Given the description of an element on the screen output the (x, y) to click on. 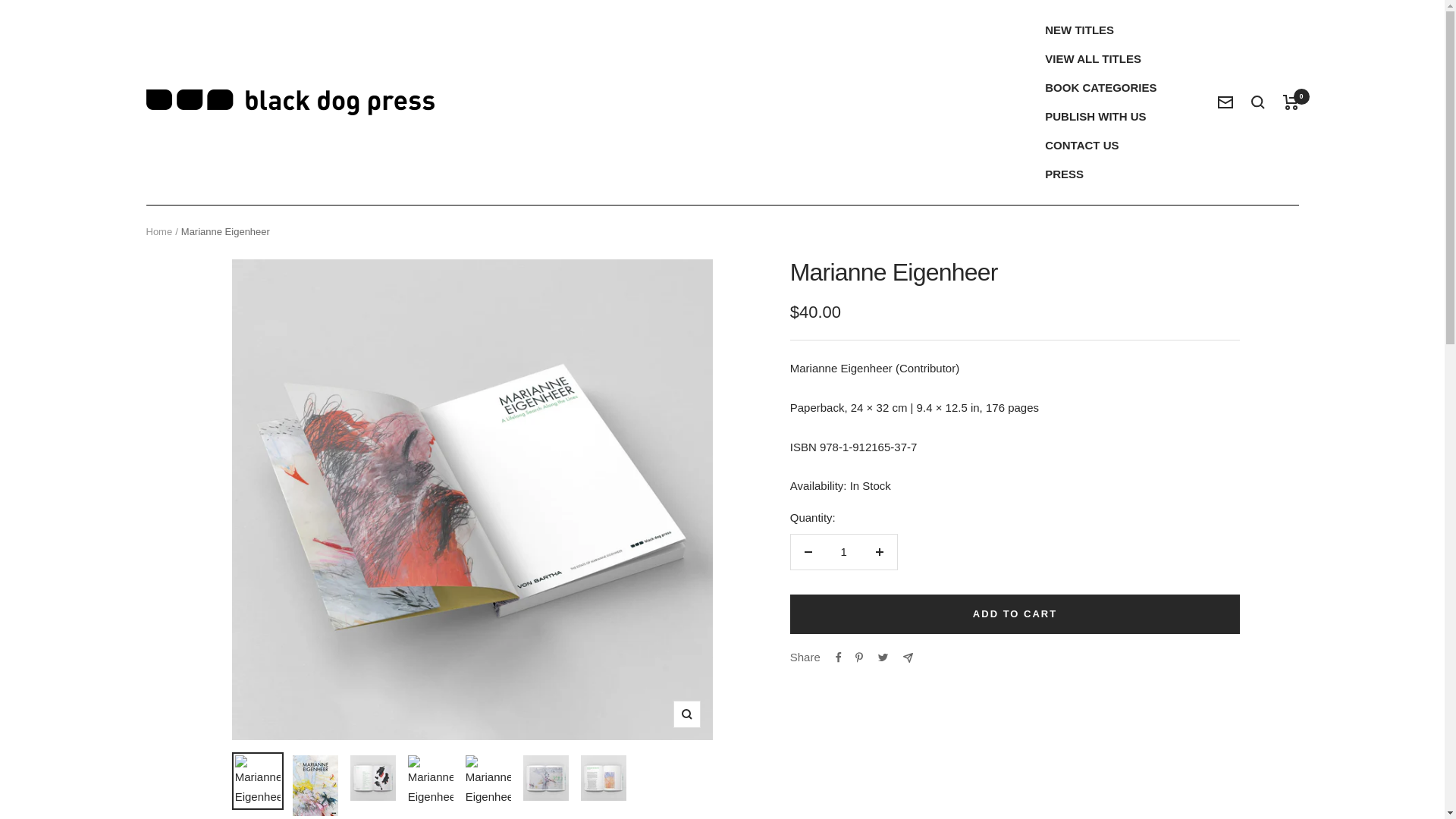
VIEW ALL TITLES (1093, 58)
Zoom (686, 714)
0 (1290, 102)
PUBLISH WITH US (1095, 116)
BOOK CATEGORIES (1100, 87)
1 (843, 551)
Newsletter (1225, 102)
CONTACT US (1081, 145)
PRESS (1064, 174)
NEW TITLES (1079, 30)
Home (158, 231)
Black Dog Press (289, 102)
